Given the description of an element on the screen output the (x, y) to click on. 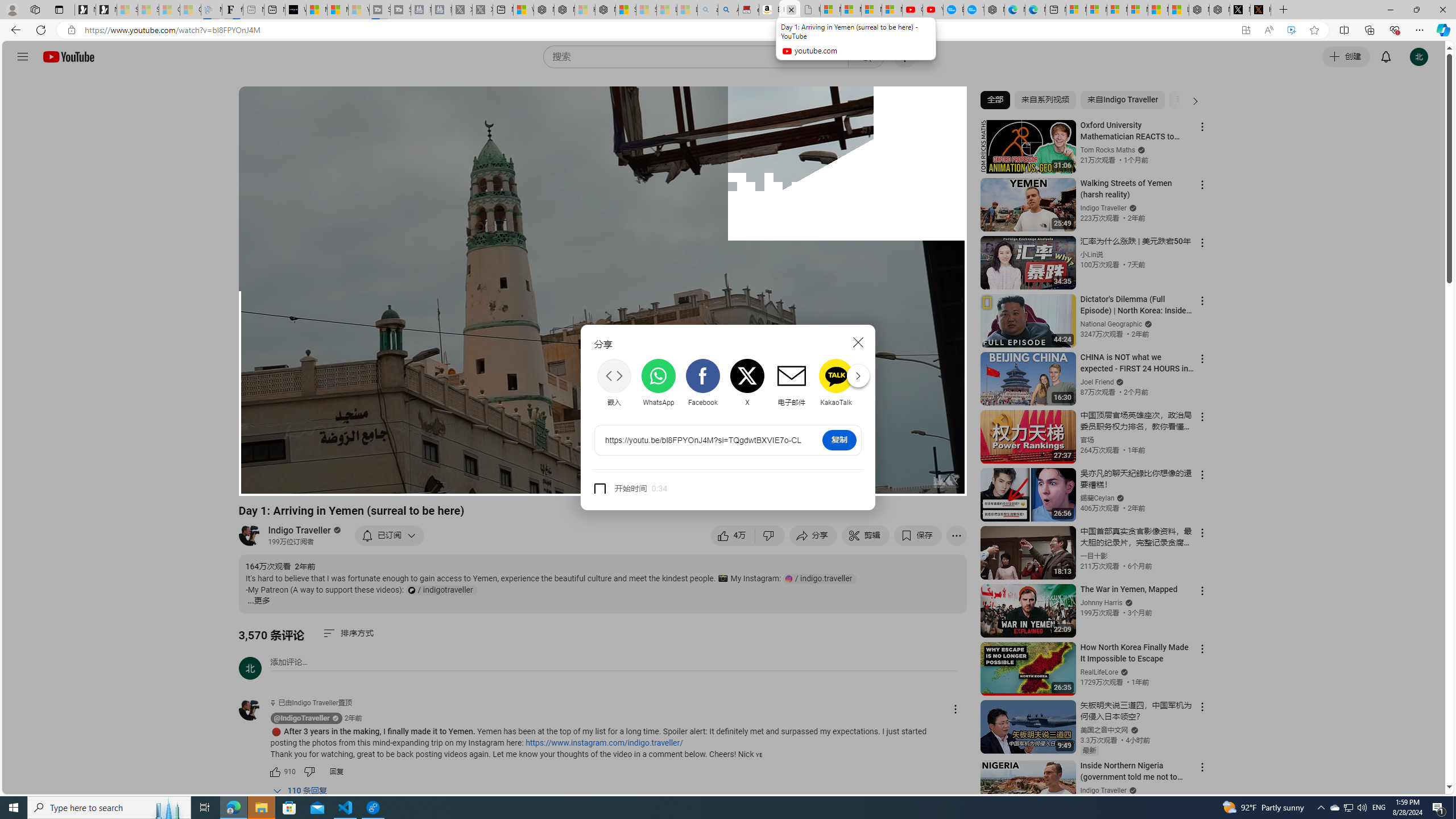
Streaming Coverage | T3 - Sleeping (379, 9)
https://www.instagram.com/indigo.traveller/ (603, 742)
Day 1: Arriving in Yemen (surreal to be here) - YouTube (789, 9)
Nordace - Nordace has arrived Hong Kong (994, 9)
Class: style-scope tp-yt-paper-input (664, 488)
